Given the description of an element on the screen output the (x, y) to click on. 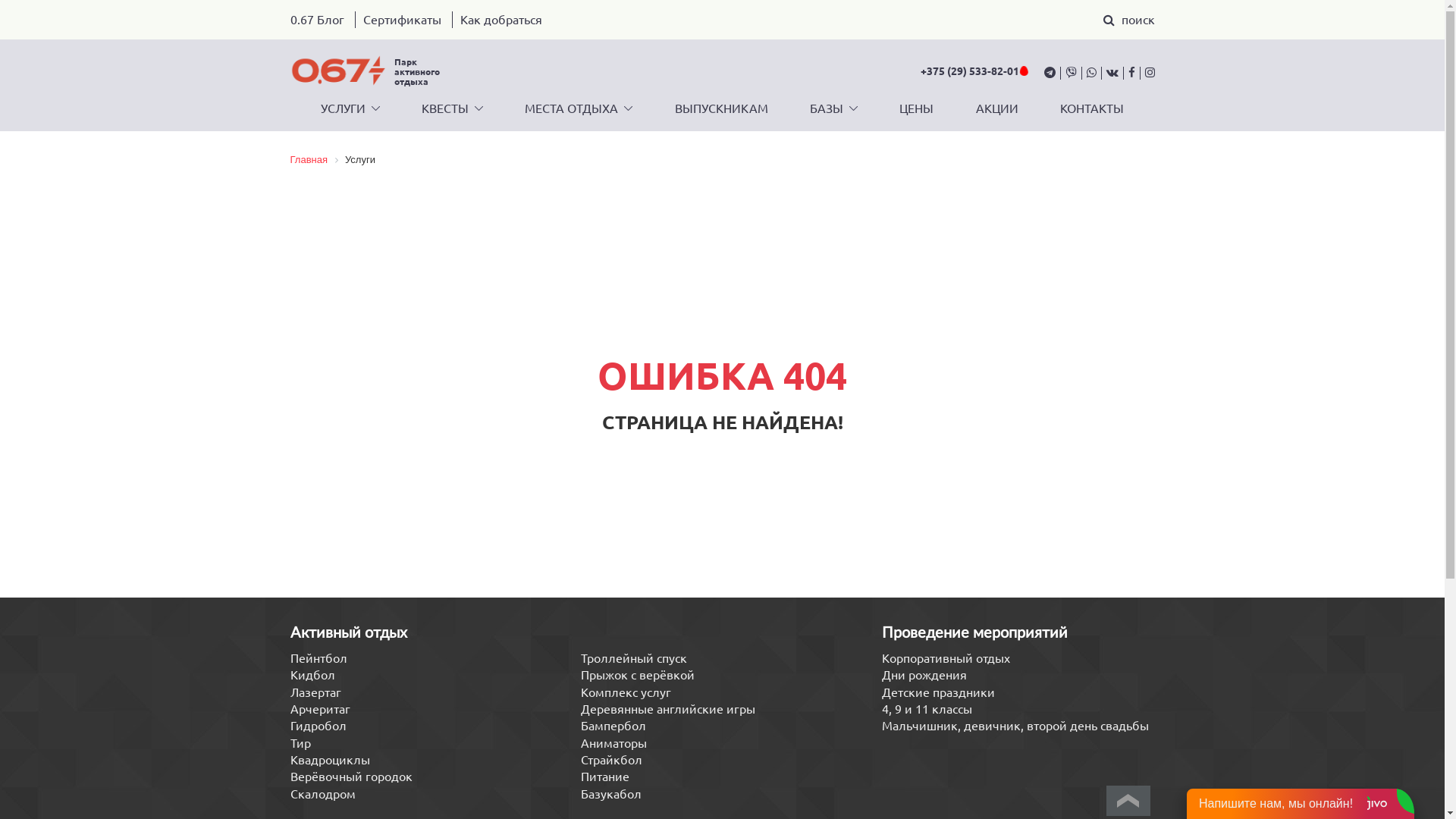
+375 (29) 533-82-01 Element type: text (974, 71)
whatsapp Element type: hover (1088, 72)
viber Element type: hover (1068, 72)
telegram Element type: hover (1048, 72)
instagram Element type: hover (1146, 72)
facebook Element type: hover (1128, 72)
